Given the description of an element on the screen output the (x, y) to click on. 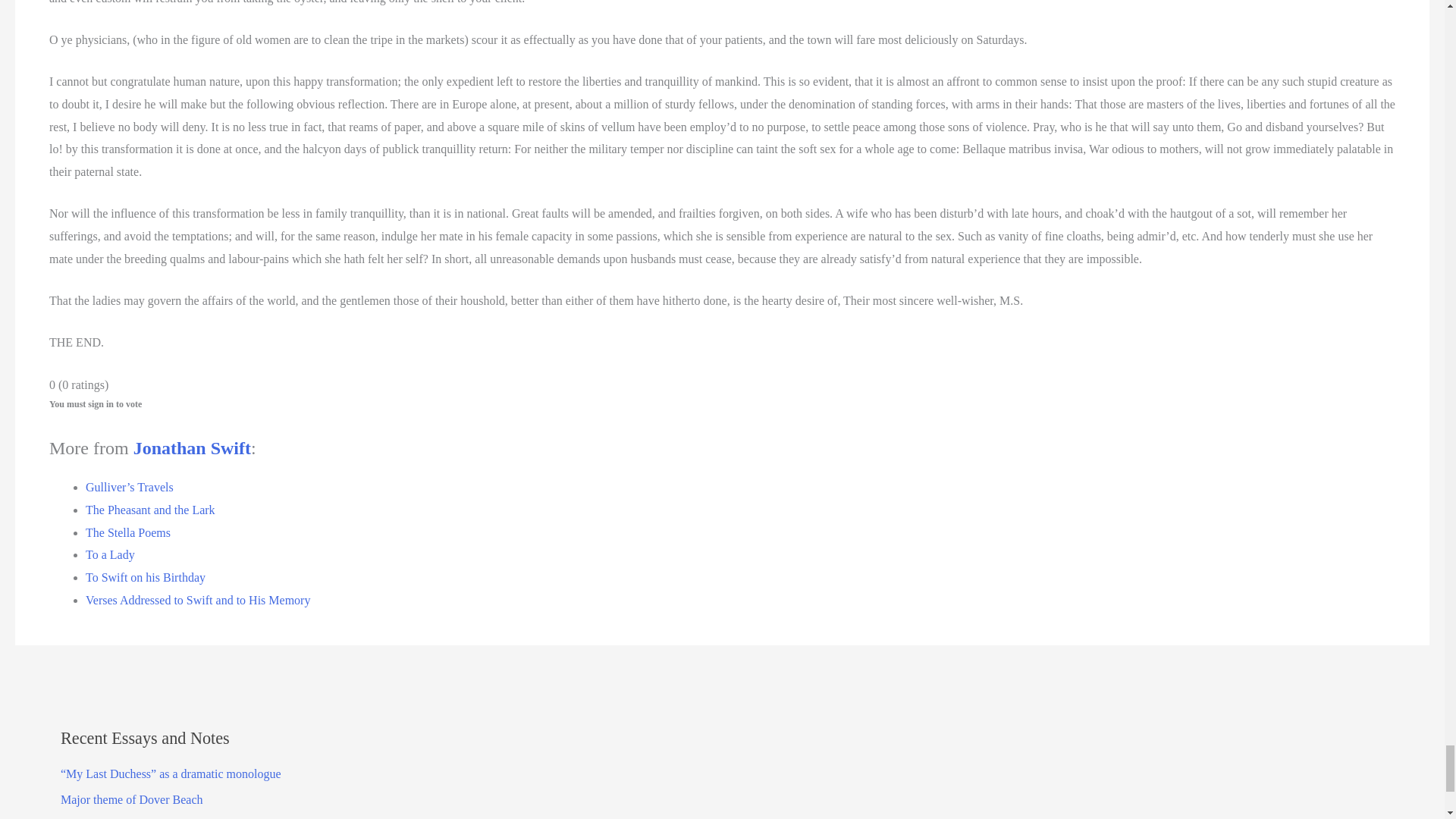
To Swift on his Birthday (145, 576)
The Stella Poems (127, 532)
Jonathan Swift (191, 447)
Verses Addressed to Swift and to His Memory (197, 599)
To a Lady (110, 554)
Major theme of Dover Beach (131, 799)
The Pheasant and the Lark (150, 509)
